Given the description of an element on the screen output the (x, y) to click on. 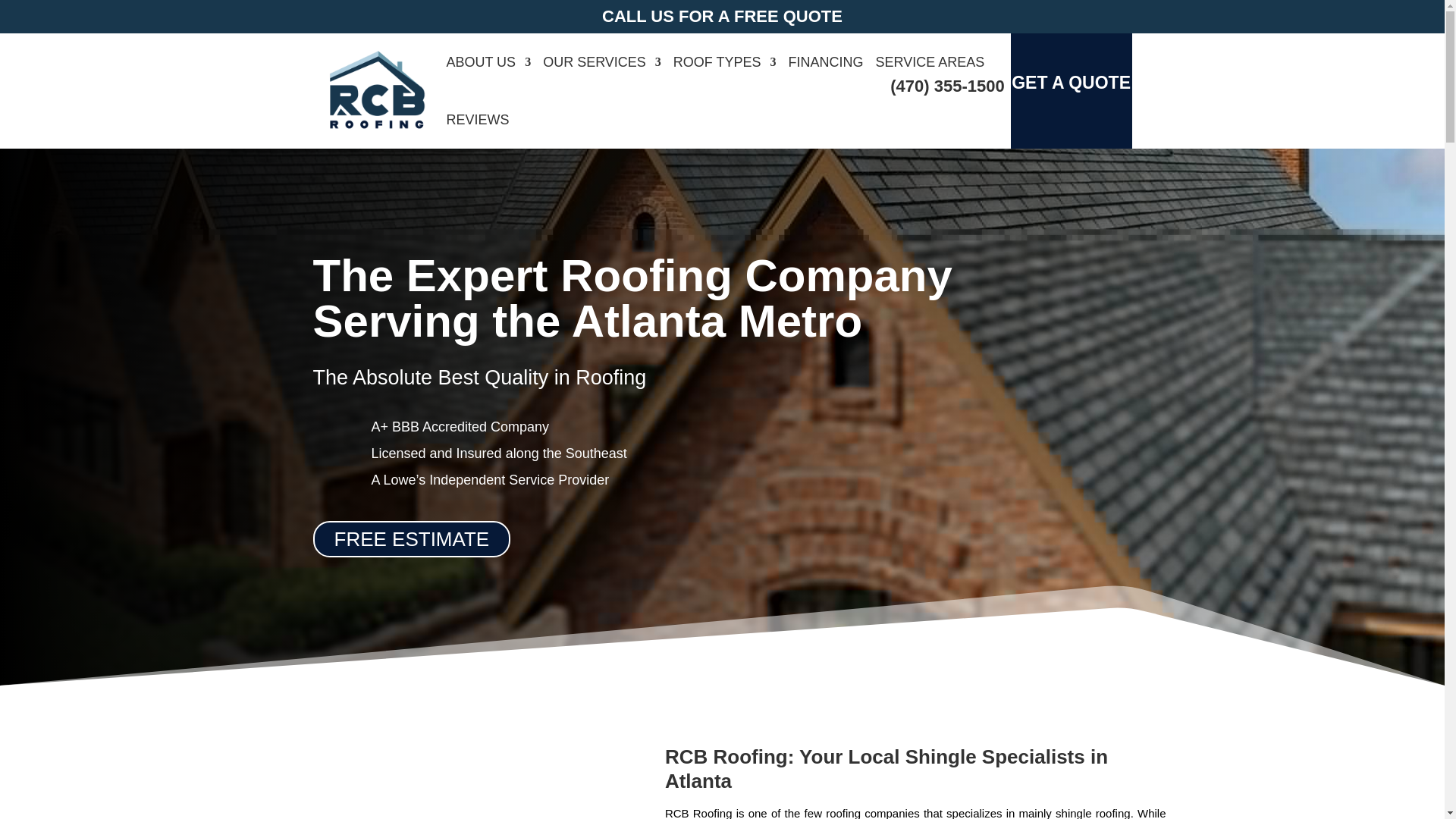
GET A QUOTE (1071, 78)
REVIEWS (476, 119)
ROOF TYPES (724, 61)
SERVICE AREAS (930, 61)
OUR SERVICES (602, 61)
FINANCING (826, 61)
ABOUT US (488, 61)
